Given the description of an element on the screen output the (x, y) to click on. 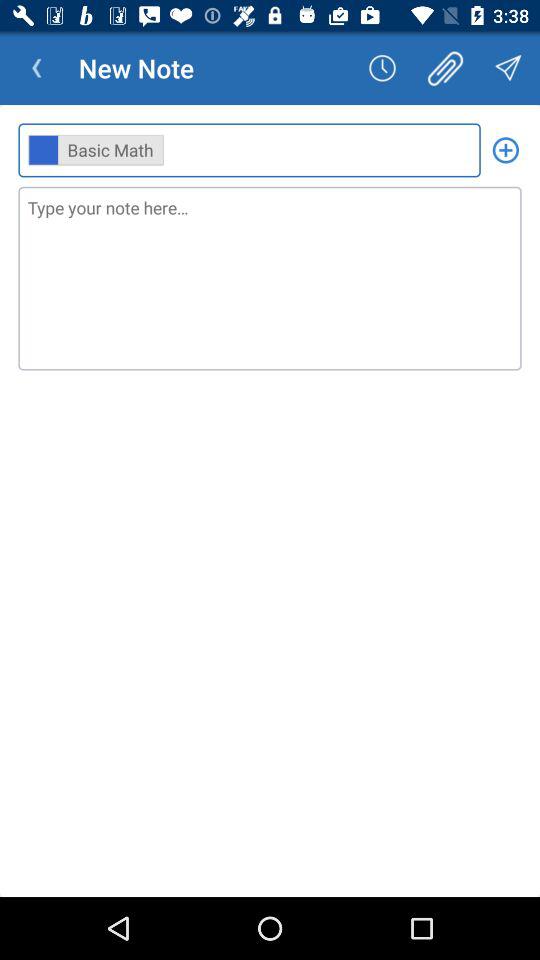
press the icon above ,,  item (444, 67)
